Given the description of an element on the screen output the (x, y) to click on. 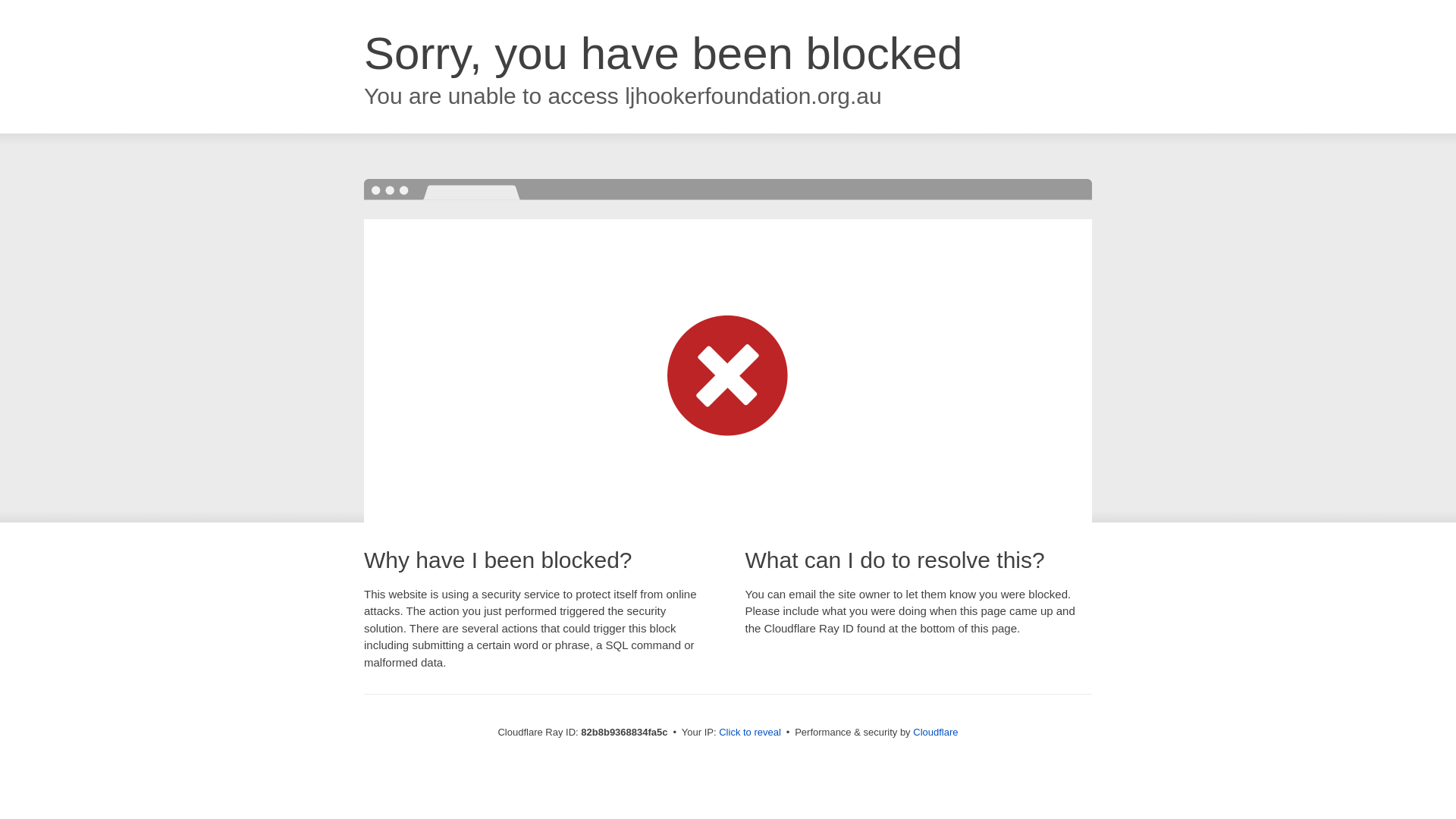
Cloudflare Element type: text (935, 731)
Click to reveal Element type: text (749, 732)
